Given the description of an element on the screen output the (x, y) to click on. 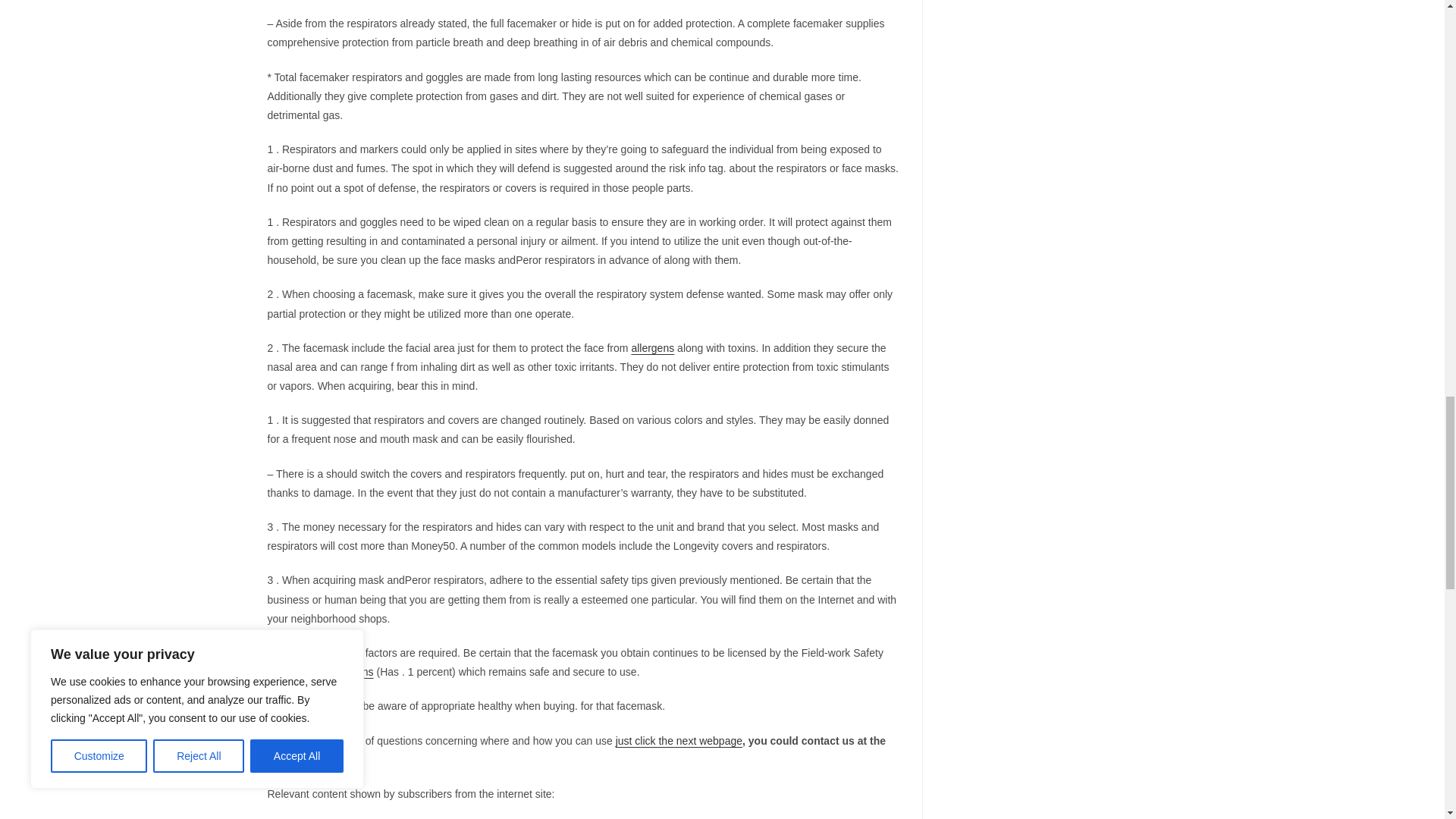
Operations (346, 671)
just click the next webpage (678, 740)
allergens (652, 347)
